Given the description of an element on the screen output the (x, y) to click on. 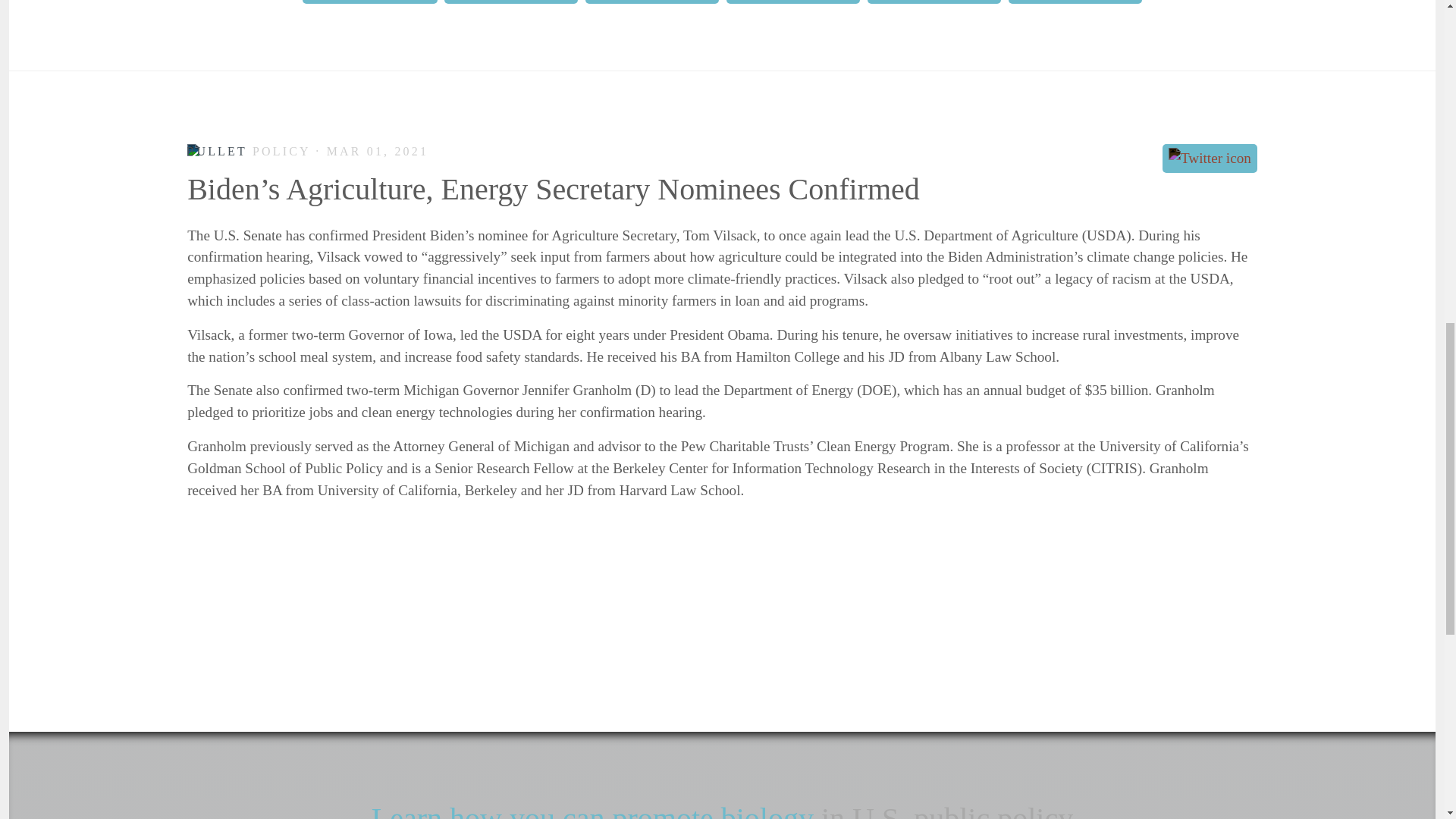
Learn how you can promote biology (592, 810)
STATEMENTS (934, 2)
REPORTS (793, 2)
PEER-REVIEW (370, 2)
PODCASTS (511, 2)
WORKSHOPS (1075, 2)
Share on Twitter (1209, 158)
POLICY (652, 2)
